Given the description of an element on the screen output the (x, y) to click on. 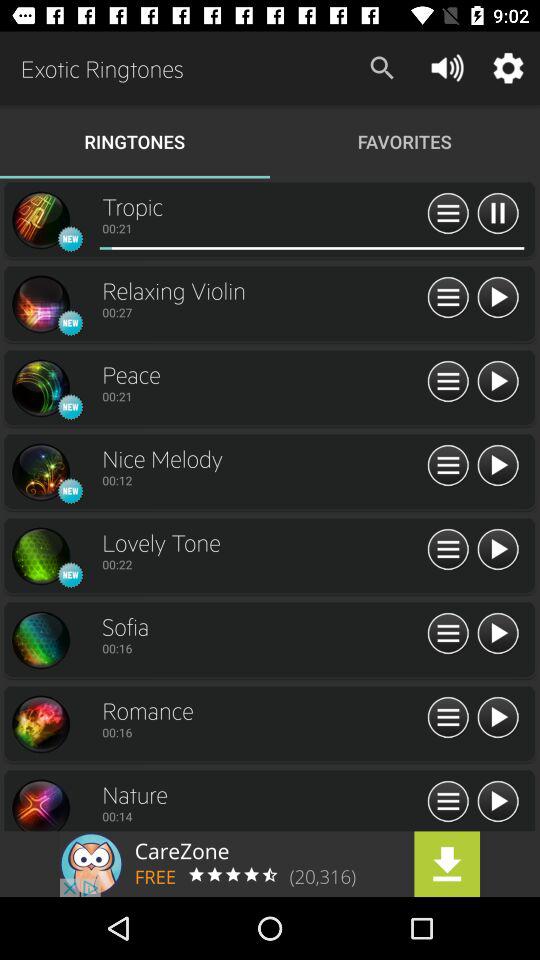
select playbutton which is after nice melody on the page (498, 465)
select the second button which is right to relaxing violin (498, 297)
go to 0012 (261, 480)
click on sofia (261, 626)
go to the fifth row play button (498, 550)
click on text right to ringtones (405, 141)
select icon which is next to nice melody (447, 465)
go to bottom of relaxing violin (261, 312)
